Given the description of an element on the screen output the (x, y) to click on. 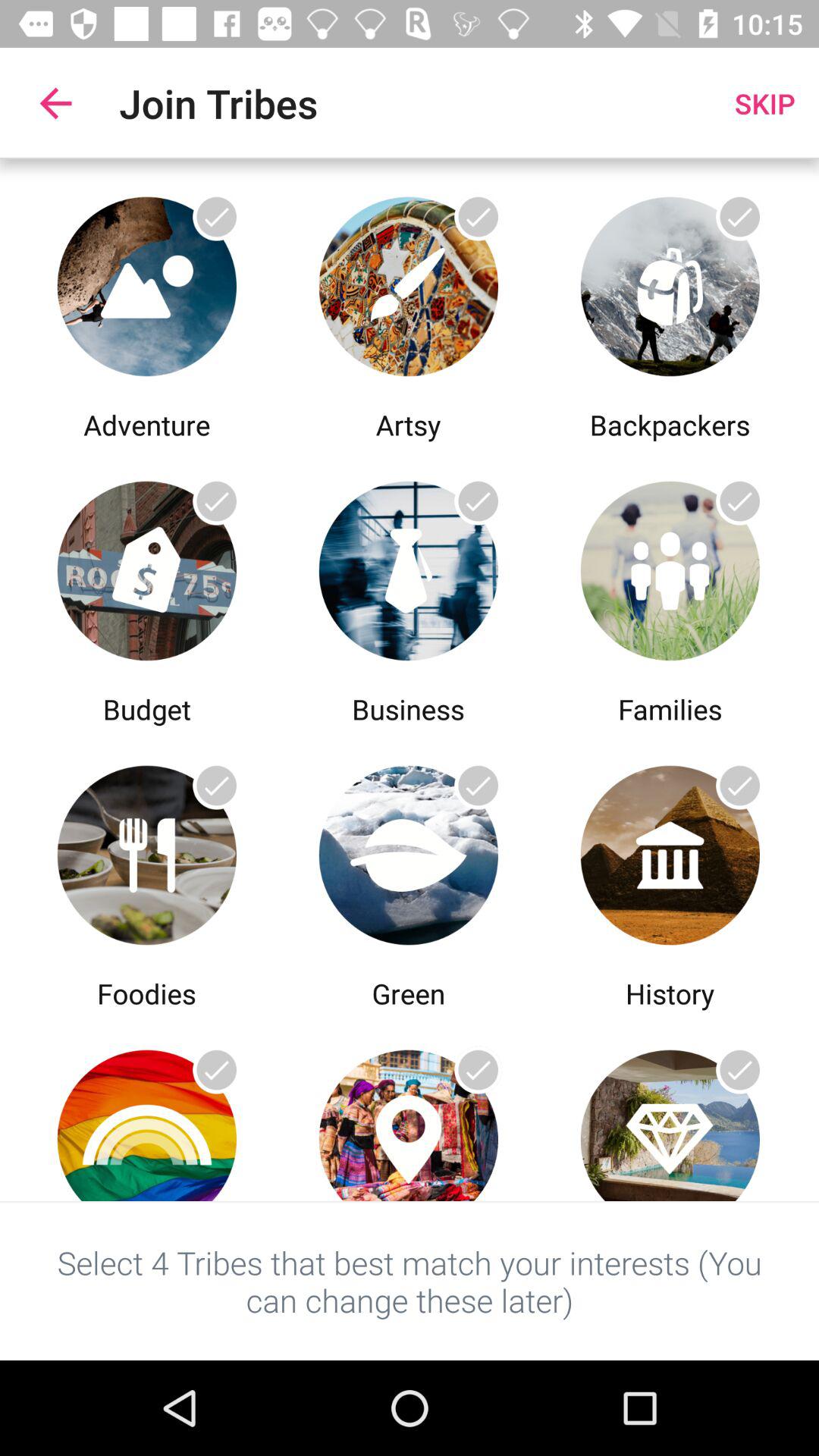
select families (669, 566)
